Given the description of an element on the screen output the (x, y) to click on. 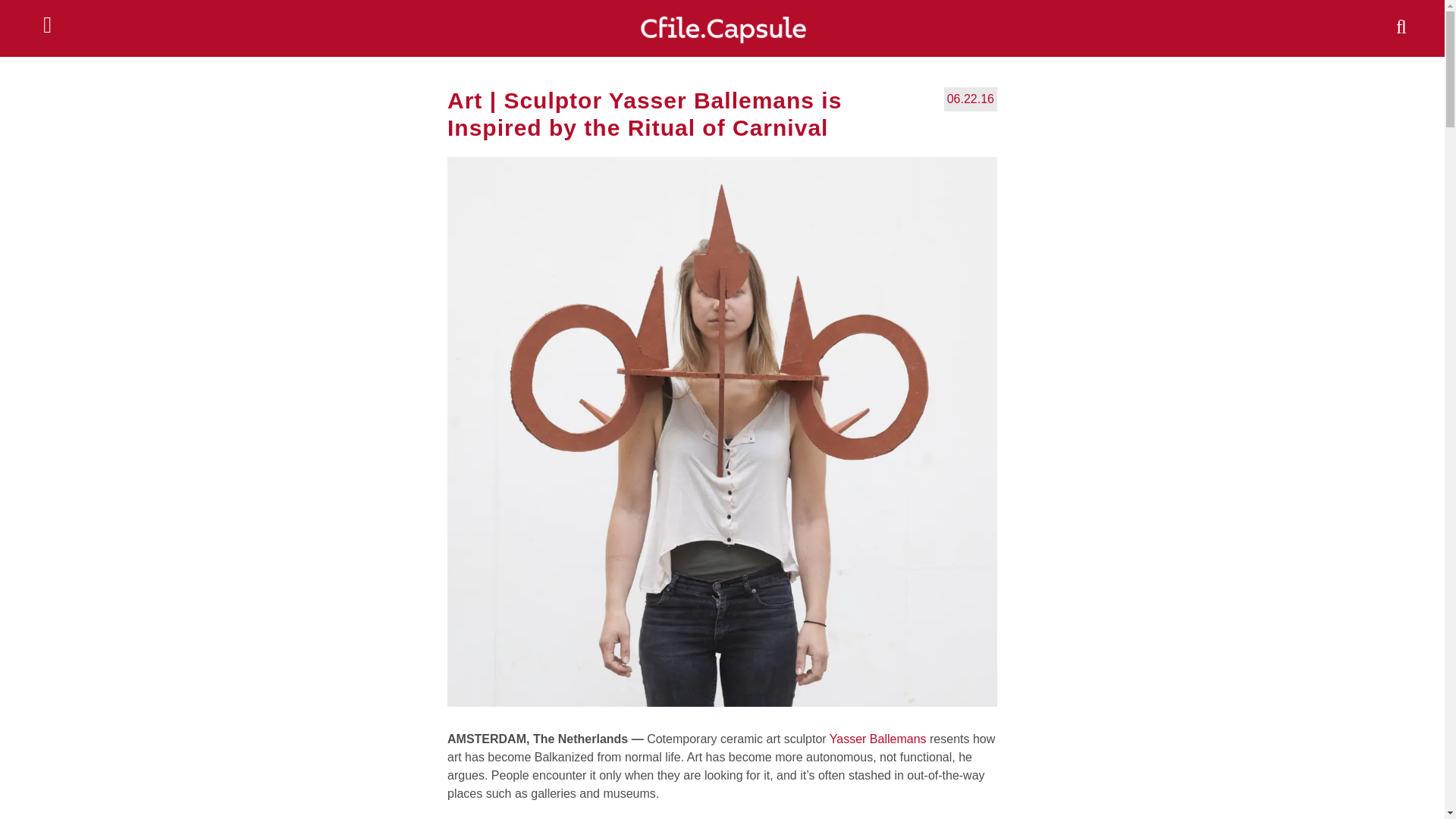
Go (16, 10)
Yasser Ballemans (877, 738)
